Given the description of an element on the screen output the (x, y) to click on. 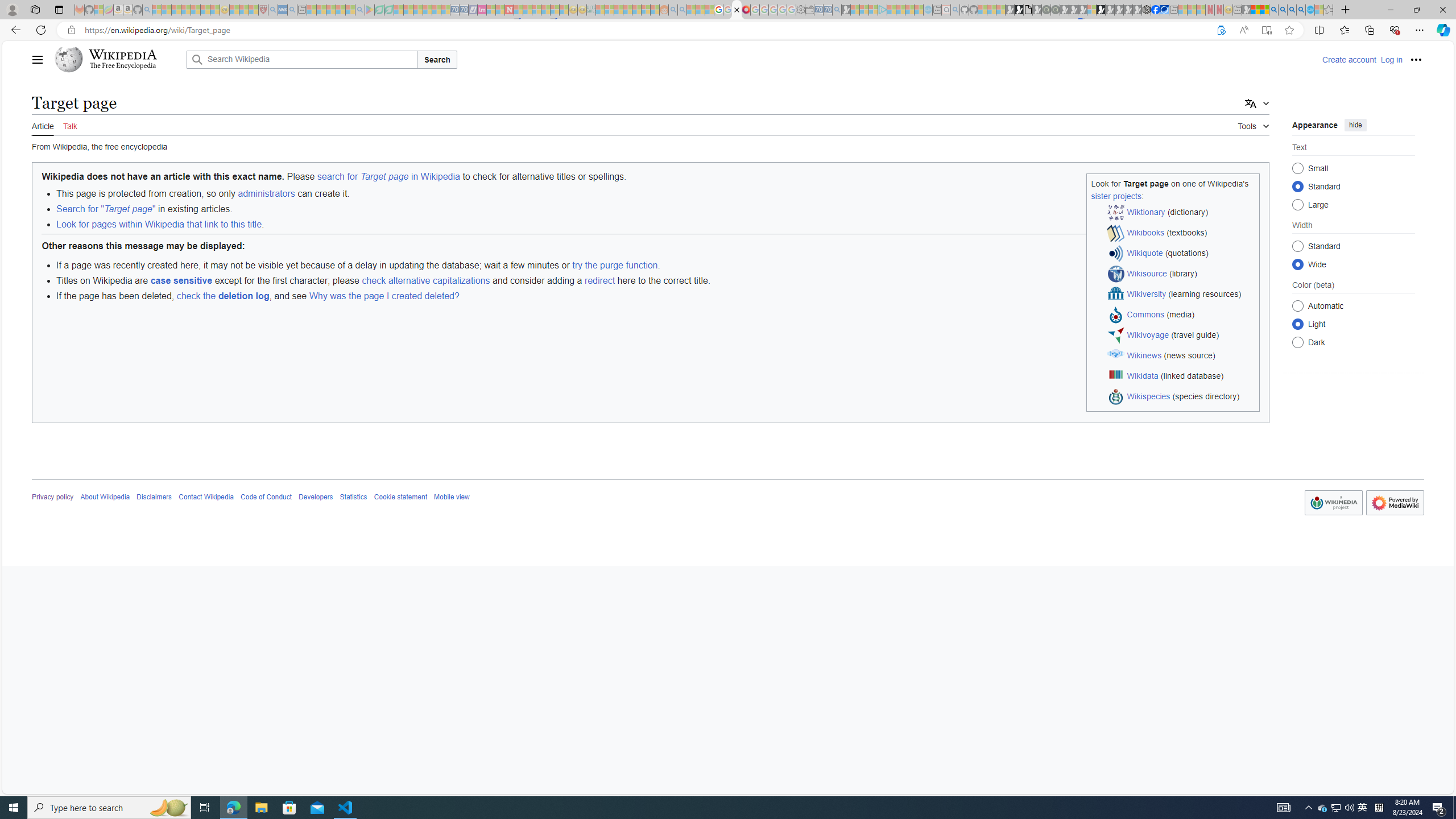
Search Wikipedia (301, 59)
Commons (1145, 314)
Wikidata (linked database) (1181, 376)
Contact Wikipedia (206, 497)
Nordace | Facebook (1154, 9)
Main menu (37, 59)
Wikiversity (1146, 293)
